Given the description of an element on the screen output the (x, y) to click on. 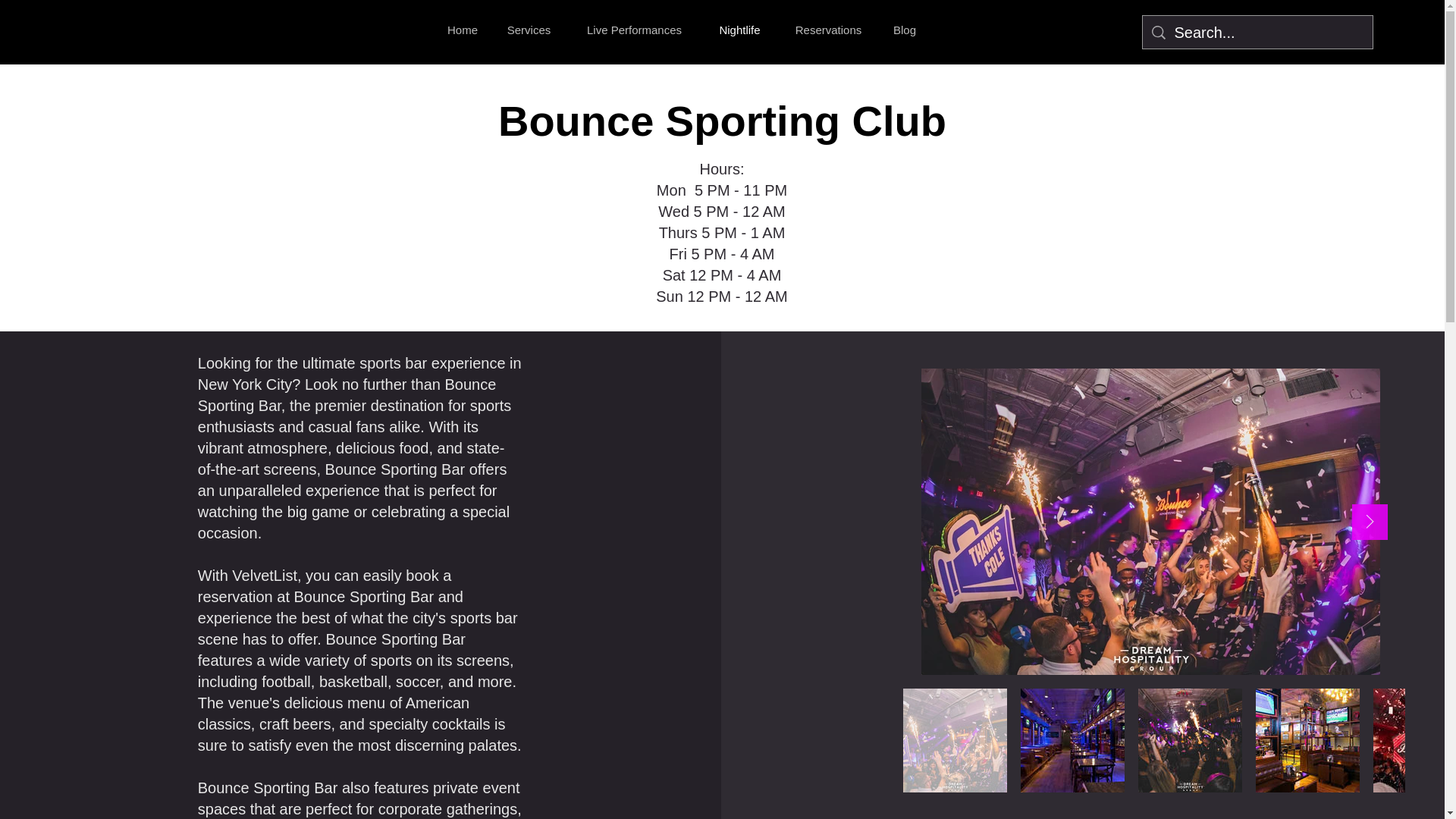
Home (462, 30)
Live Performances (633, 30)
Nightlife (738, 30)
Blog (903, 30)
Services (529, 30)
Reservations (827, 30)
